Given the description of an element on the screen output the (x, y) to click on. 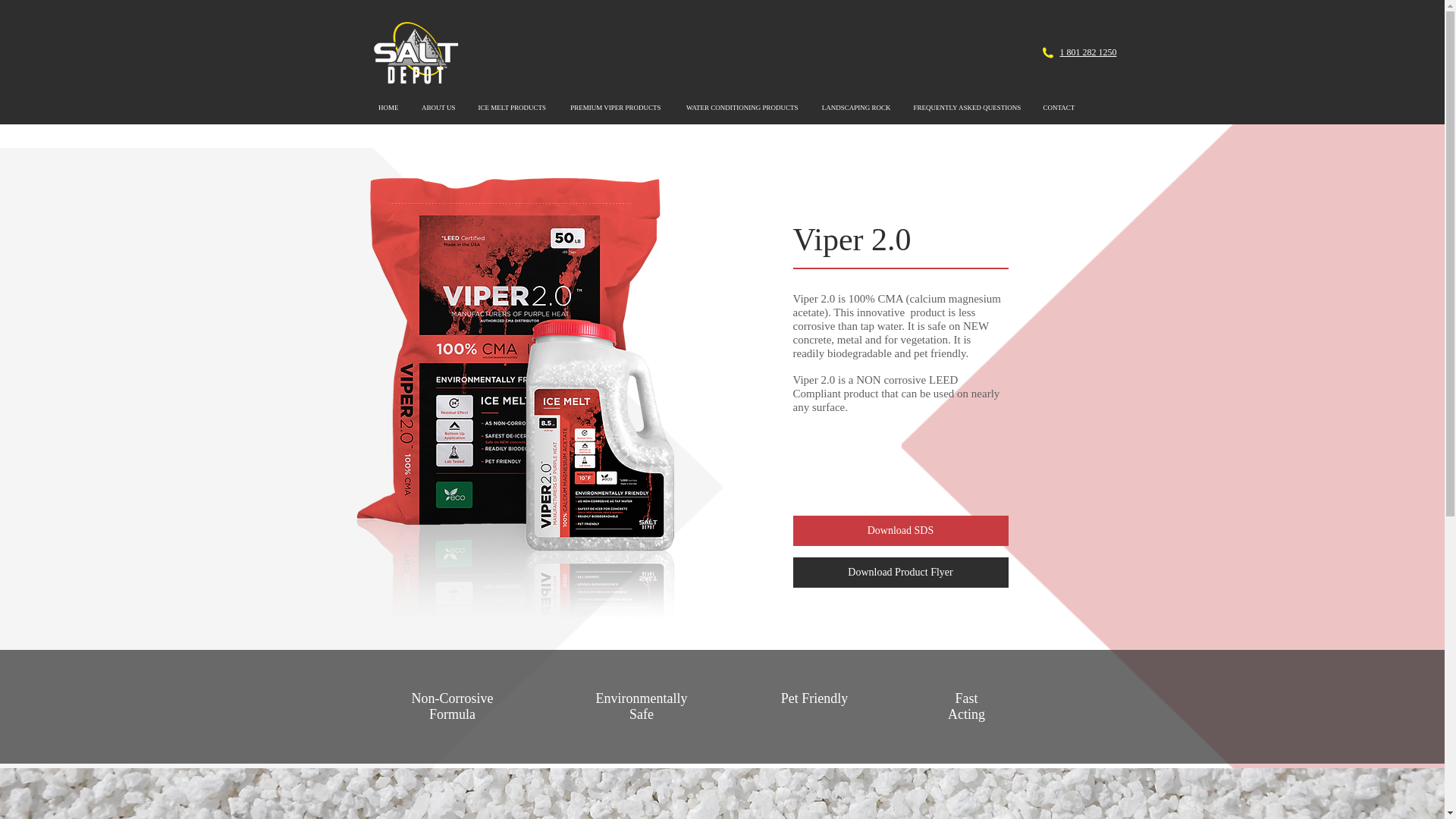
CONTACT (1057, 108)
HOME (388, 108)
ABOUT US (437, 108)
ICE MELT PRODUCTS (512, 108)
1 801 282 1250 (1087, 51)
LANDSCAPING ROCK (855, 108)
Download SDS (901, 530)
PREMIUM VIPER PRODUCTS (613, 108)
WATER CONDITIONING PRODUCTS (740, 108)
Download Product Flyer (901, 572)
FREQUENTLY ASKED QUESTIONS (967, 108)
